Given the description of an element on the screen output the (x, y) to click on. 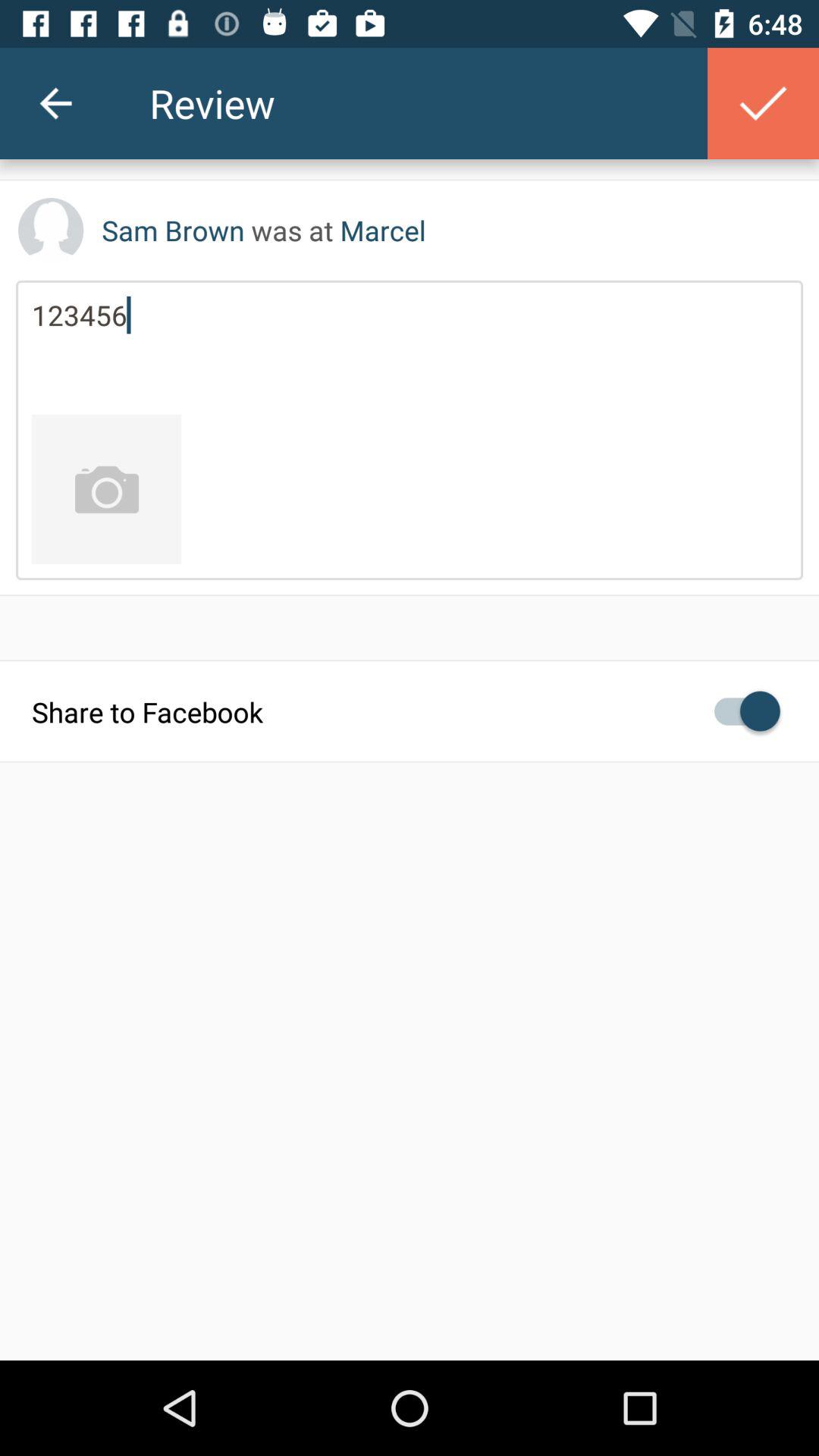
turn on 123456 item (409, 347)
